Given the description of an element on the screen output the (x, y) to click on. 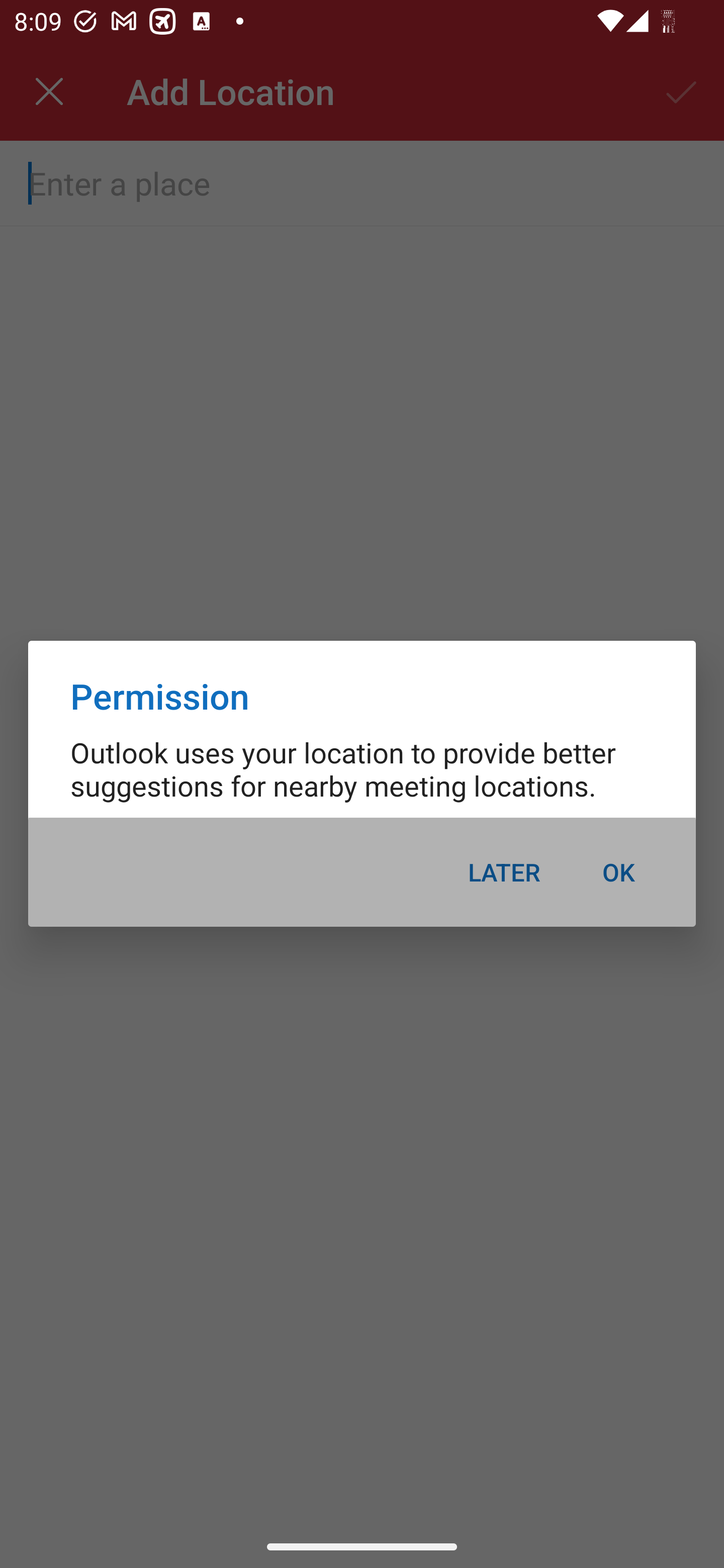
LATER (503, 872)
OK (617, 872)
